Given the description of an element on the screen output the (x, y) to click on. 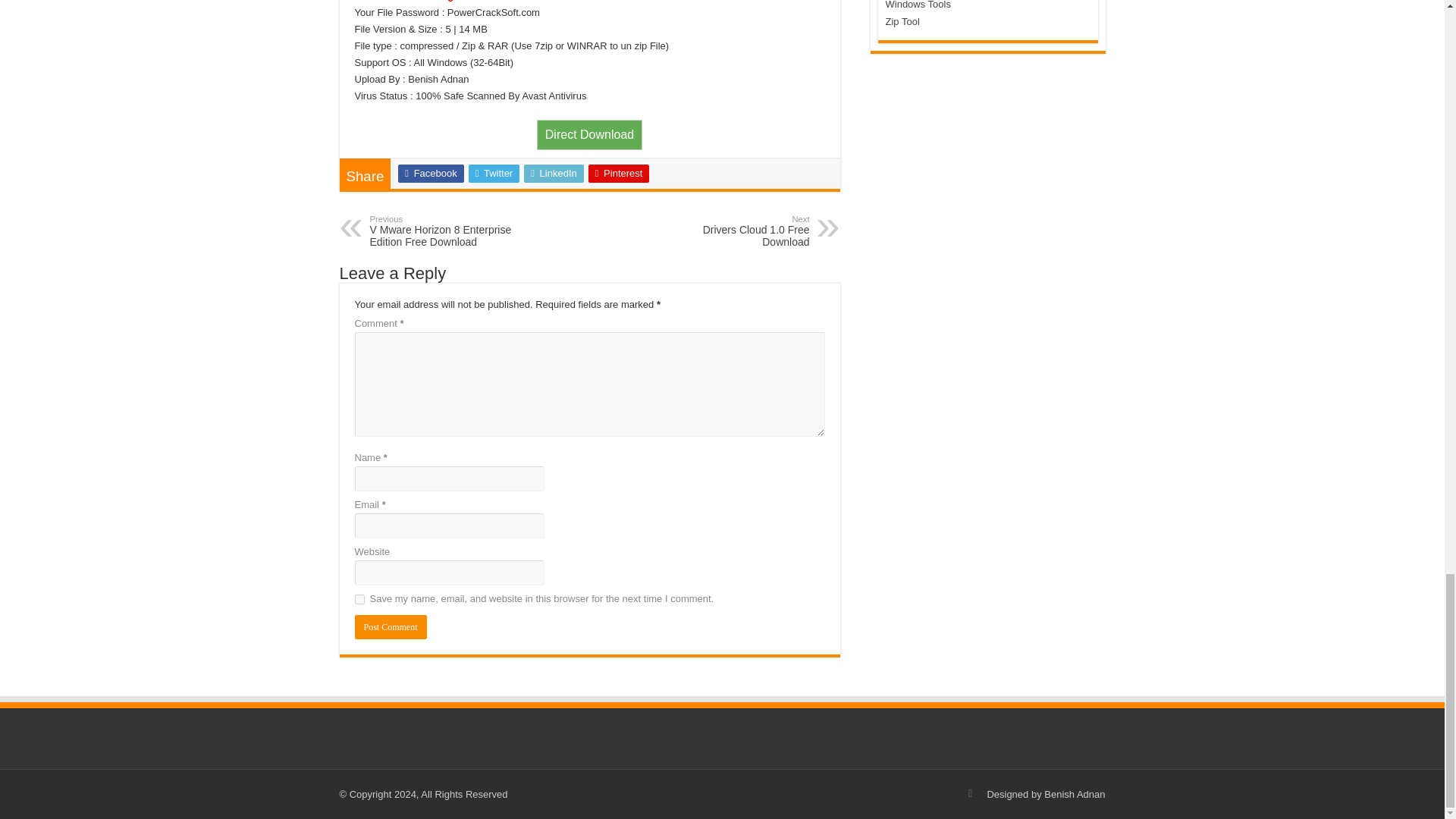
Facebook (731, 231)
Direct Download (430, 173)
Twitter (589, 133)
Post Comment (493, 173)
Post Comment (390, 627)
yes (390, 627)
LinkedIn (447, 231)
mega (360, 598)
